Given the description of an element on the screen output the (x, y) to click on. 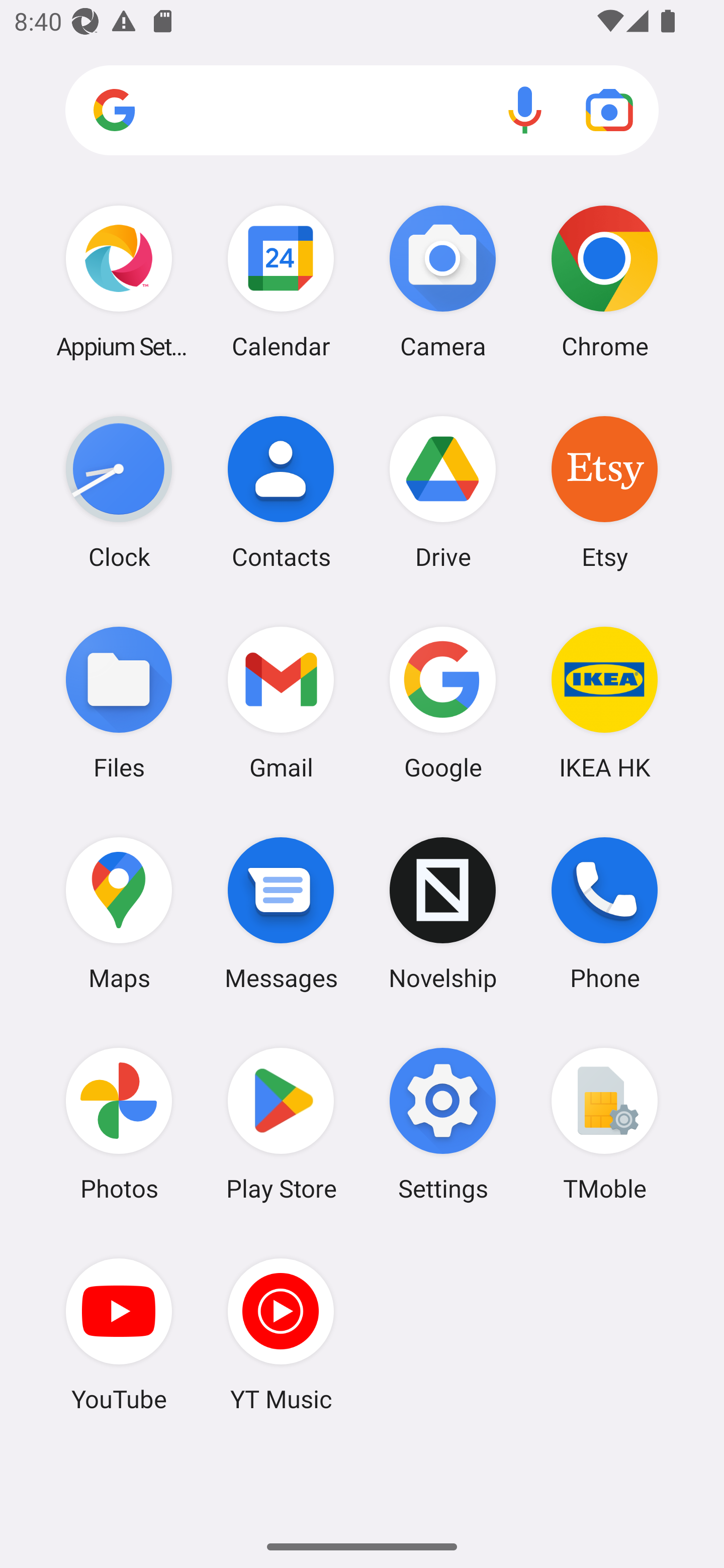
Search apps, web and more (361, 110)
Voice search (524, 109)
Google Lens (608, 109)
Appium Settings (118, 281)
Calendar (280, 281)
Camera (443, 281)
Chrome (604, 281)
Clock (118, 492)
Contacts (280, 492)
Drive (443, 492)
Etsy (604, 492)
Files (118, 702)
Gmail (280, 702)
Google (443, 702)
IKEA HK (604, 702)
Maps (118, 913)
Messages (280, 913)
Novelship (443, 913)
Phone (604, 913)
Photos (118, 1124)
Play Store (280, 1124)
Settings (443, 1124)
TMoble (604, 1124)
YouTube (118, 1334)
YT Music (280, 1334)
